Given the description of an element on the screen output the (x, y) to click on. 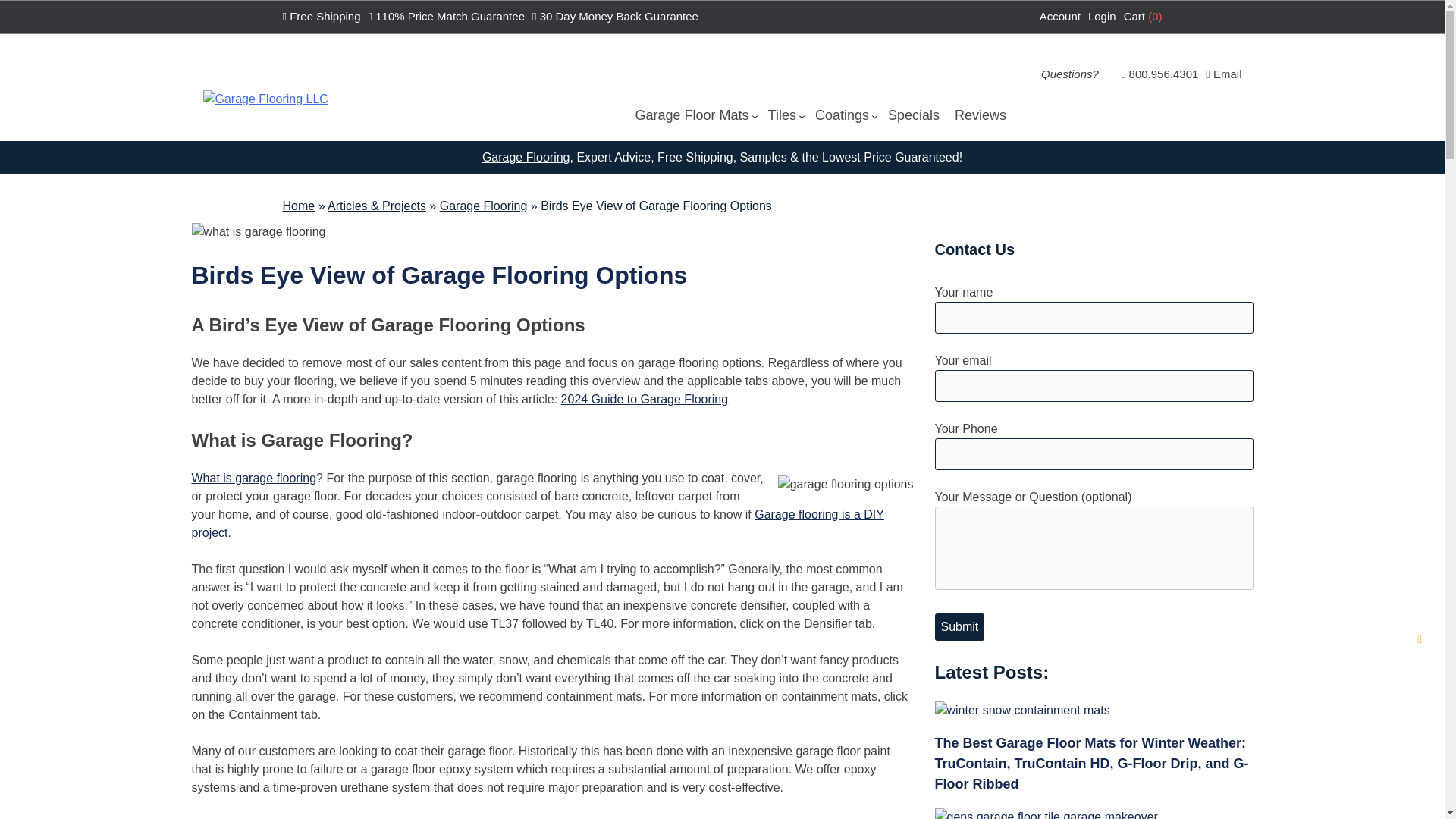
Email (1223, 73)
Submit (959, 626)
Tiles (782, 115)
Account (1059, 16)
800.956.4301 (1159, 73)
Cart 0 (1142, 16)
Login (1101, 16)
Garage Floor Mats (691, 115)
